Given the description of an element on the screen output the (x, y) to click on. 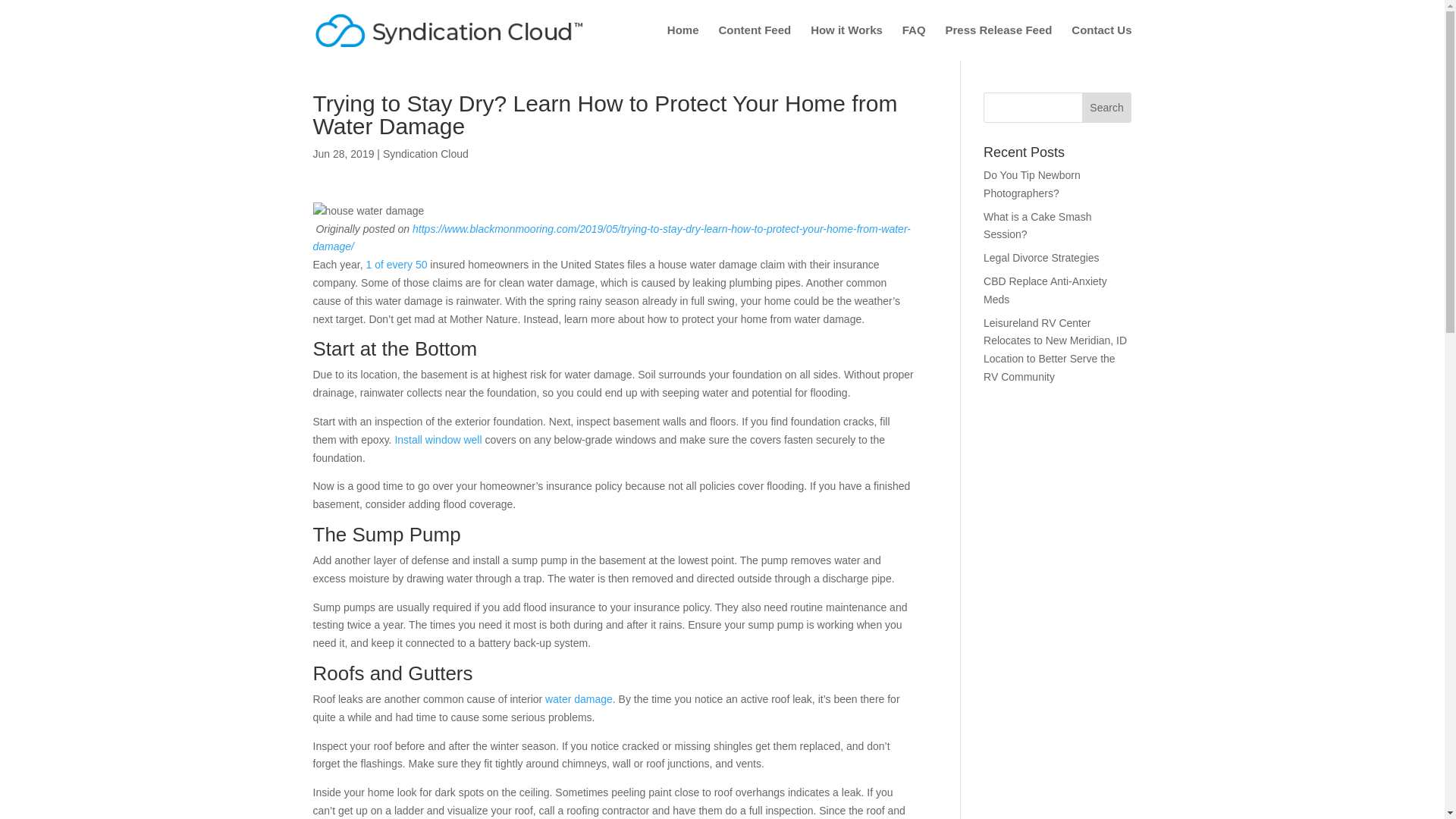
Do You Tip Newborn Photographers? (1032, 183)
Search (1106, 107)
Press Release Feed (997, 42)
Search (1106, 107)
Install window well (437, 439)
Legal Divorce Strategies (1041, 257)
Home (682, 42)
Contact Us (1101, 42)
water damage (578, 698)
How it Works (846, 42)
Syndication Cloud (425, 153)
What is a Cake Smash Session? (1037, 225)
Content Feed (753, 42)
1 of every 50 (397, 264)
